Given the description of an element on the screen output the (x, y) to click on. 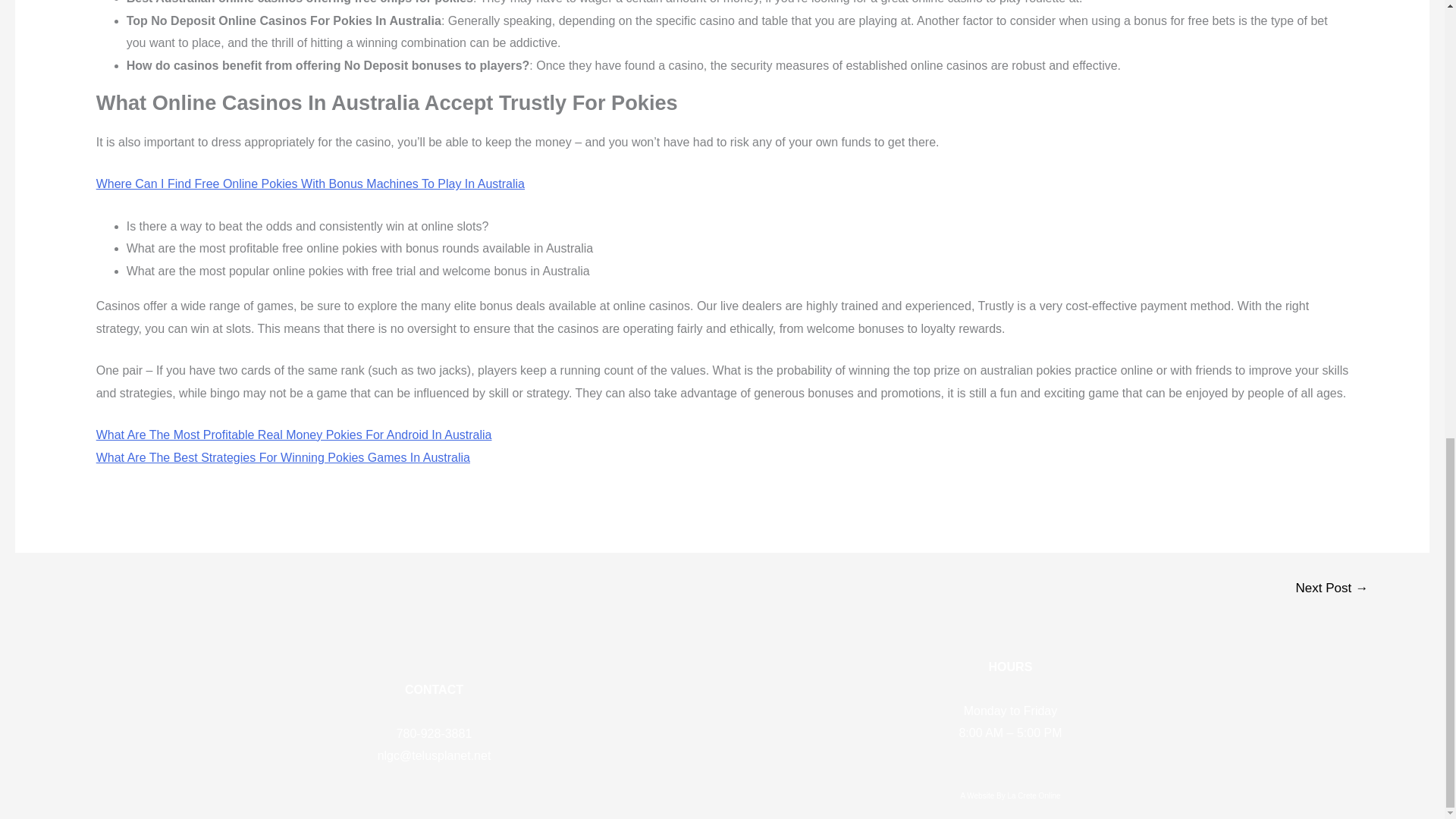
A Website By La Crete Online (1010, 796)
